Given the description of an element on the screen output the (x, y) to click on. 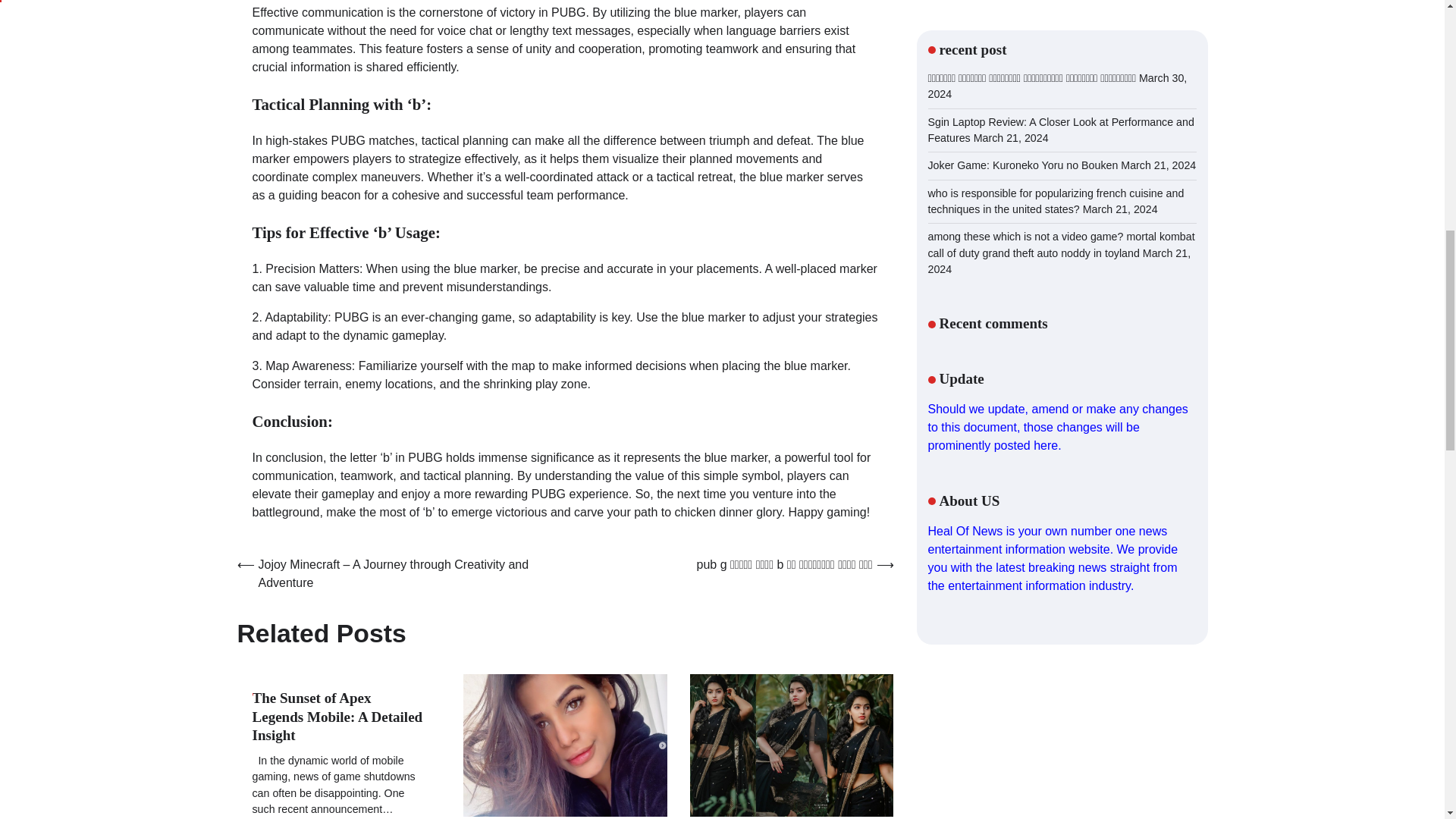
The Sunset of Apex Legends Mobile: A Detailed Insight (336, 716)
